Given the description of an element on the screen output the (x, y) to click on. 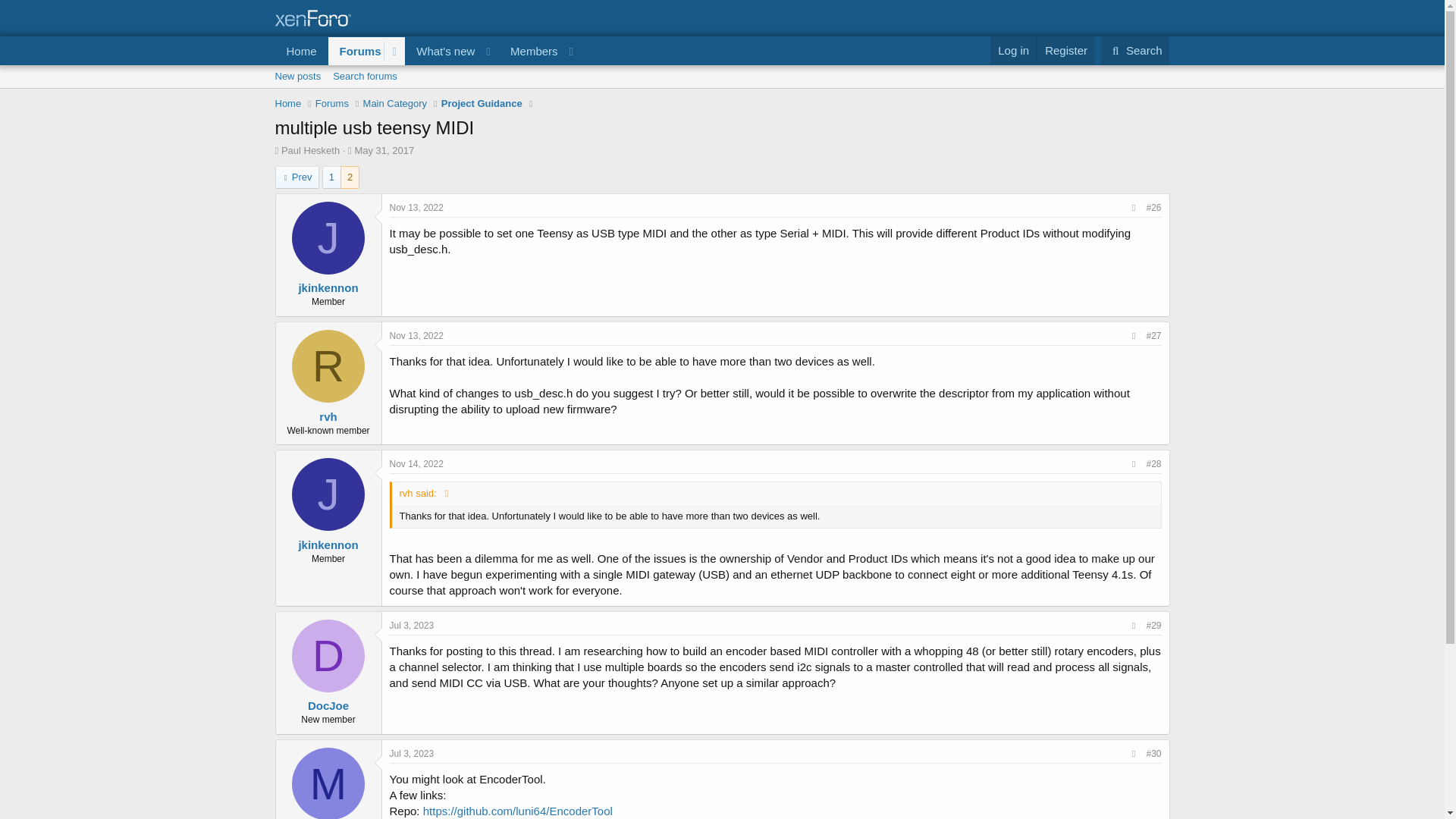
May 31, 2017 at 5:50 AM (383, 150)
Nov 13, 2022 at 7:58 AM (417, 207)
Home (301, 50)
Start date (349, 150)
Project Guidance (481, 103)
Register (720, 93)
1 (427, 67)
Jul 3, 2023 at 3:06 AM (1065, 50)
May 31, 2017 (331, 177)
Paul Hesketh (411, 753)
Forums (383, 150)
Search (310, 150)
Main Category (332, 103)
